Given the description of an element on the screen output the (x, y) to click on. 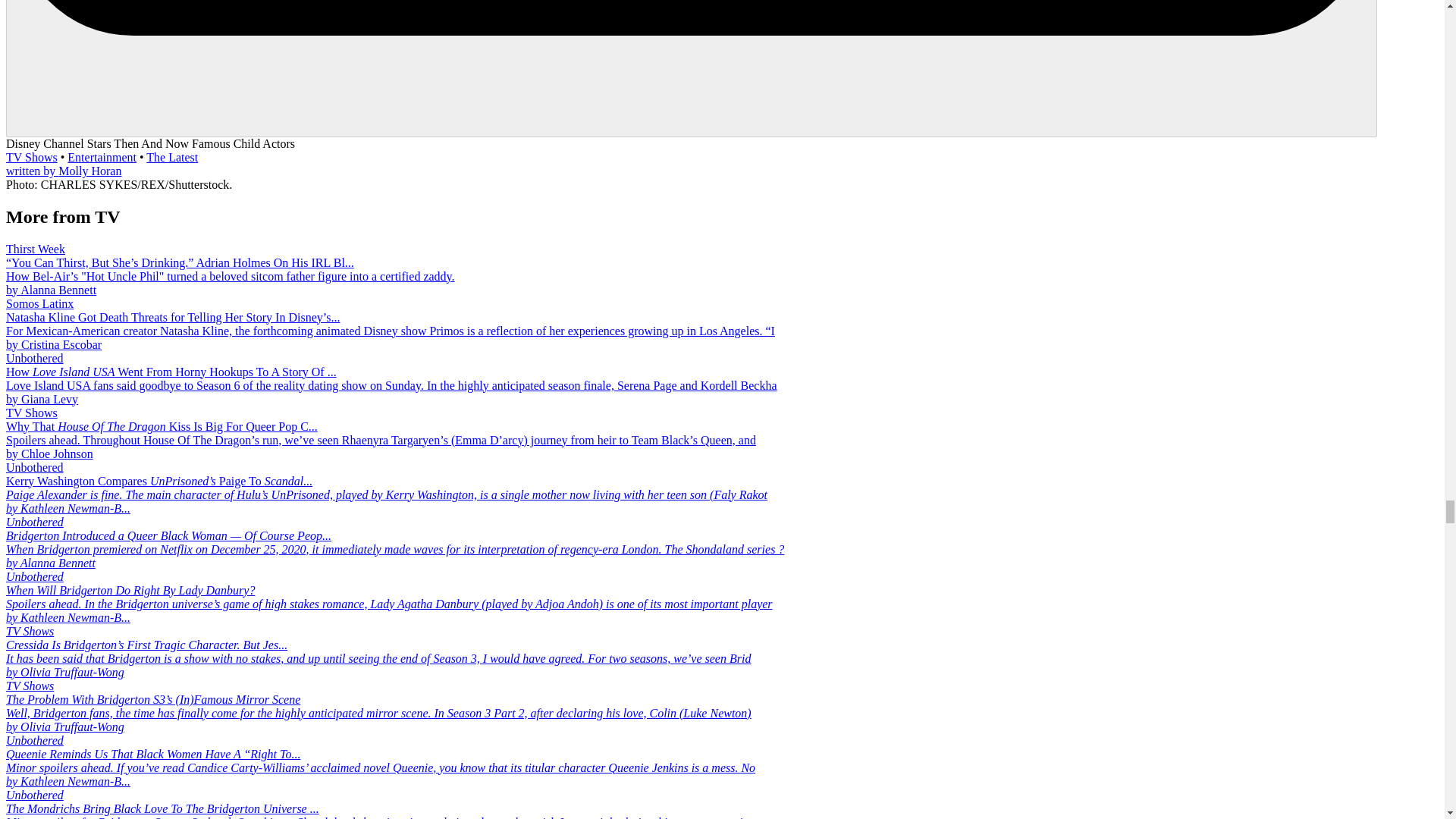
written by Molly Horan (62, 170)
Entertainment (101, 156)
TV Shows (31, 156)
The Latest (172, 156)
